Given the description of an element on the screen output the (x, y) to click on. 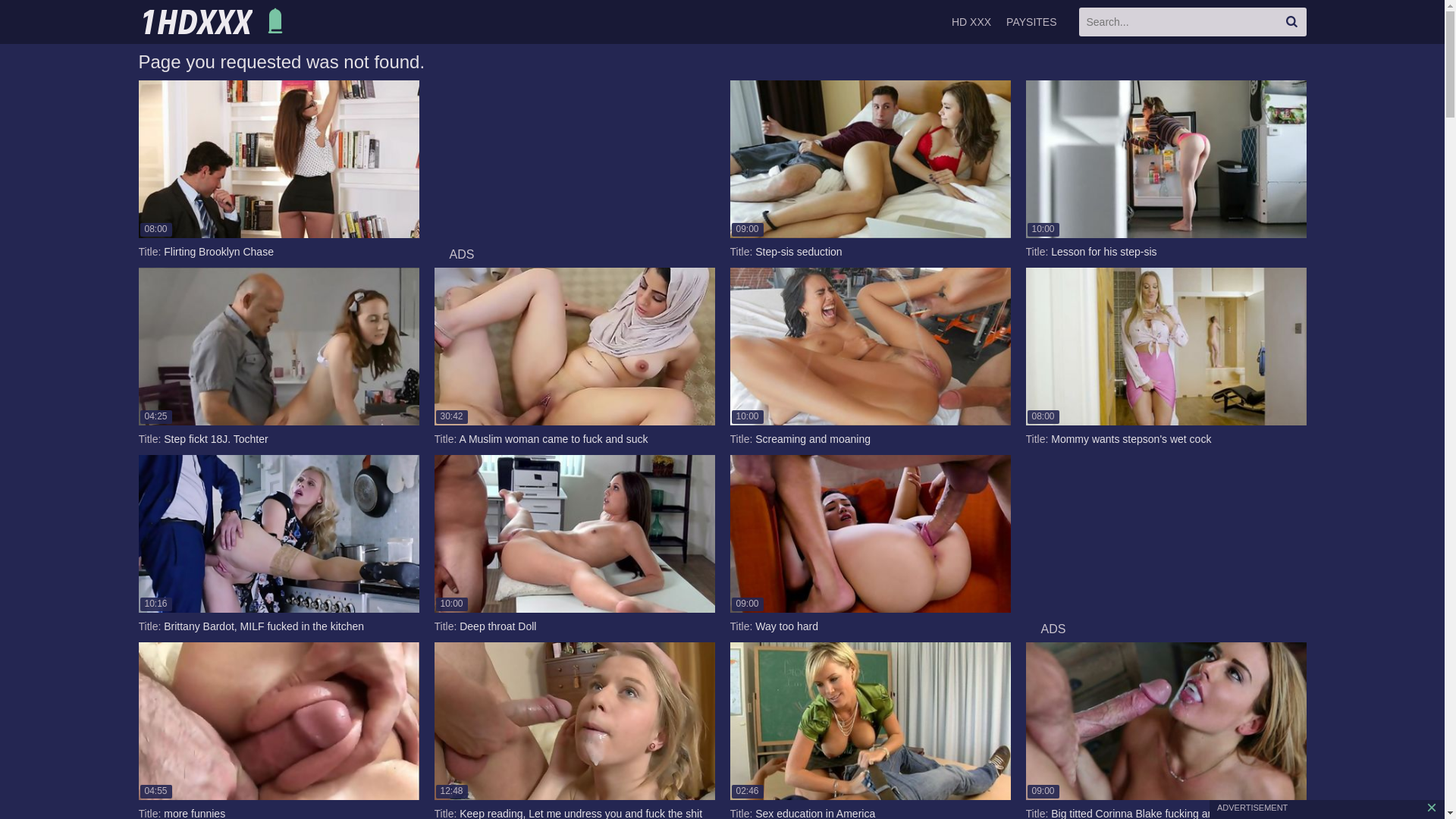
HD XXX Element type: hover (213, 21)
PAYSITES Element type: text (1031, 21)
HD XXX Element type: text (971, 21)
